Given the description of an element on the screen output the (x, y) to click on. 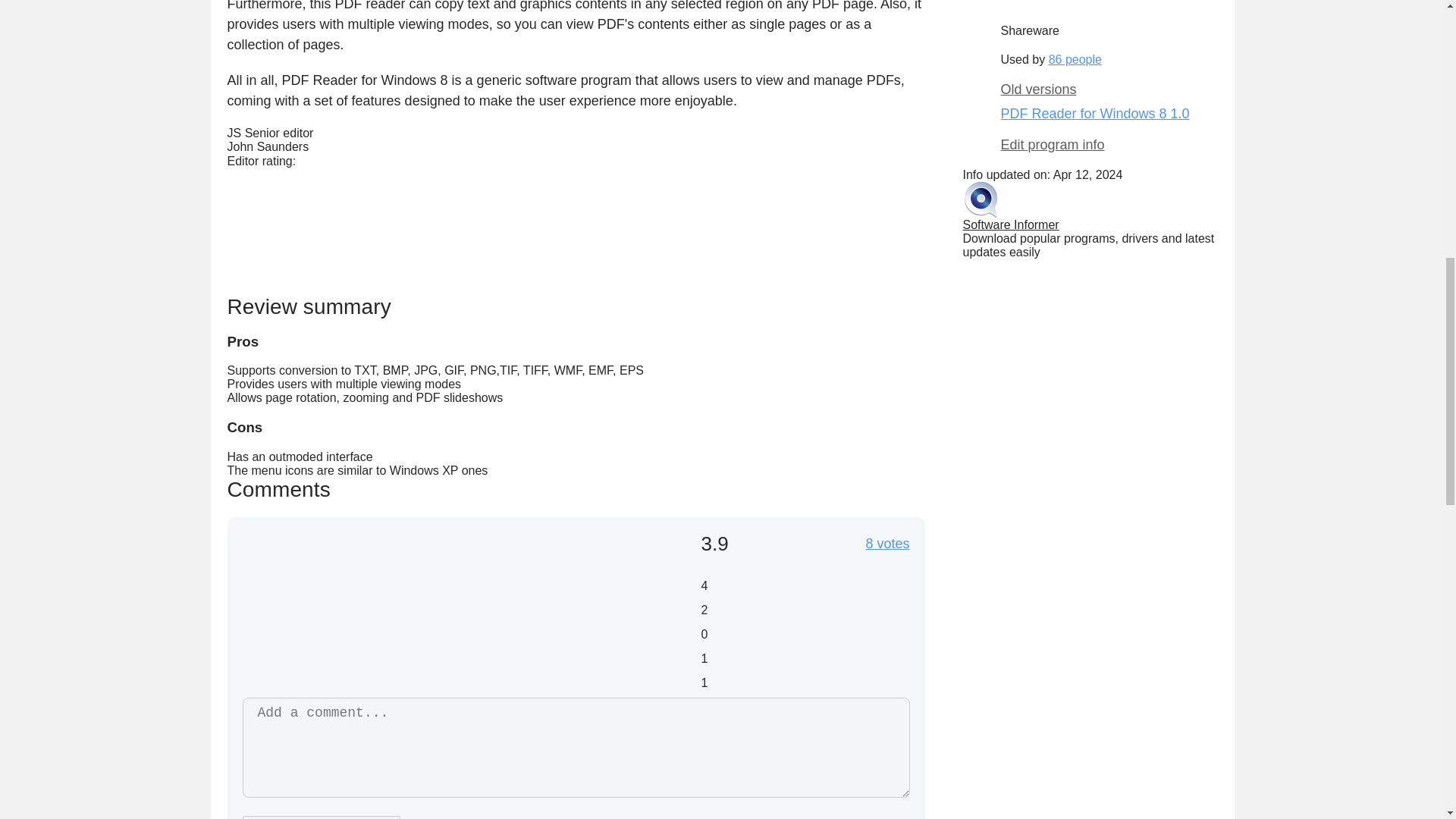
Top rated award (983, 12)
86 people (1075, 59)
Old versions (1109, 89)
PDF Reader for Windows 8 1.0 (1095, 113)
